Given the description of an element on the screen output the (x, y) to click on. 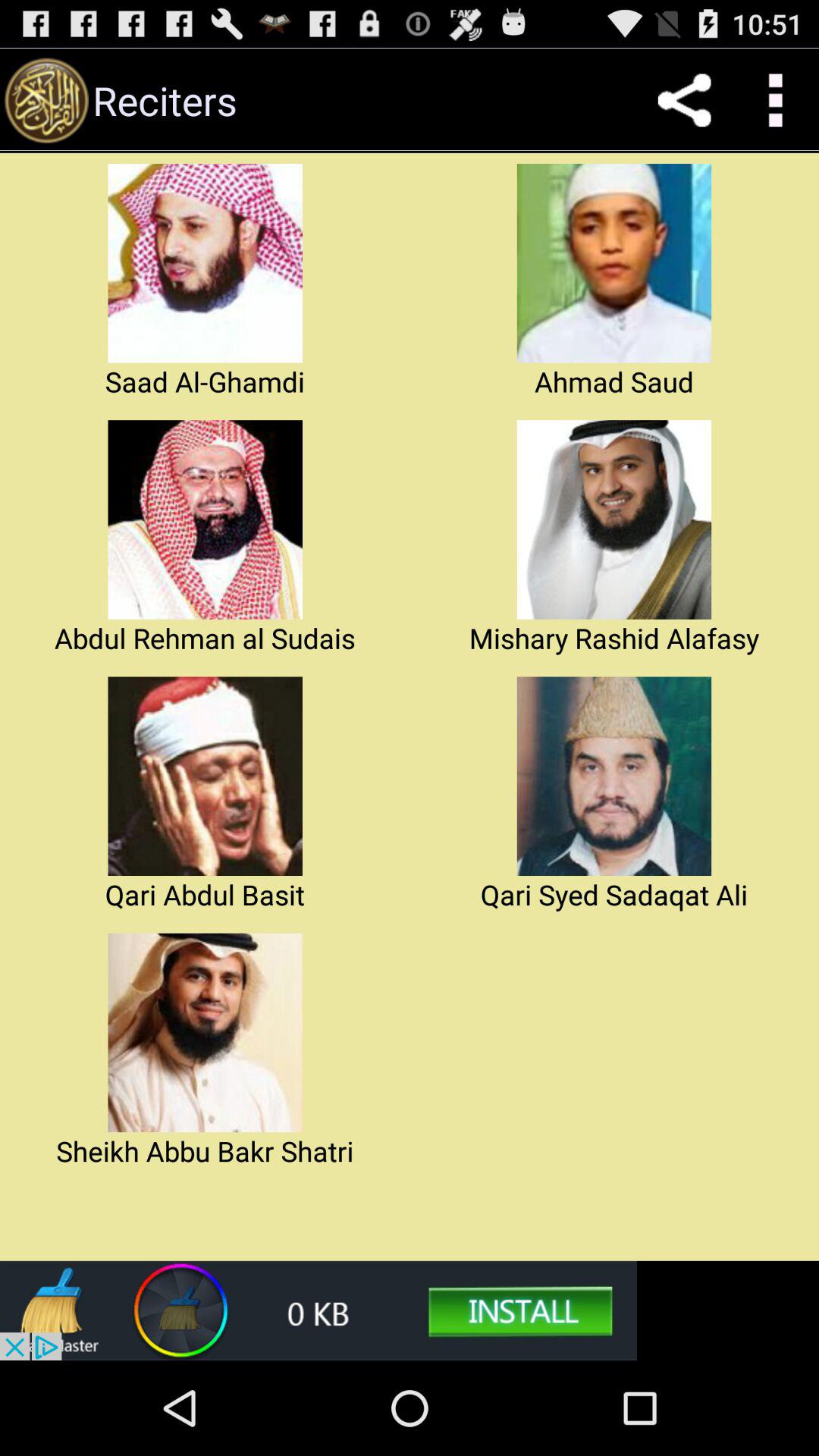
interact with advertisement (318, 1310)
